Given the description of an element on the screen output the (x, y) to click on. 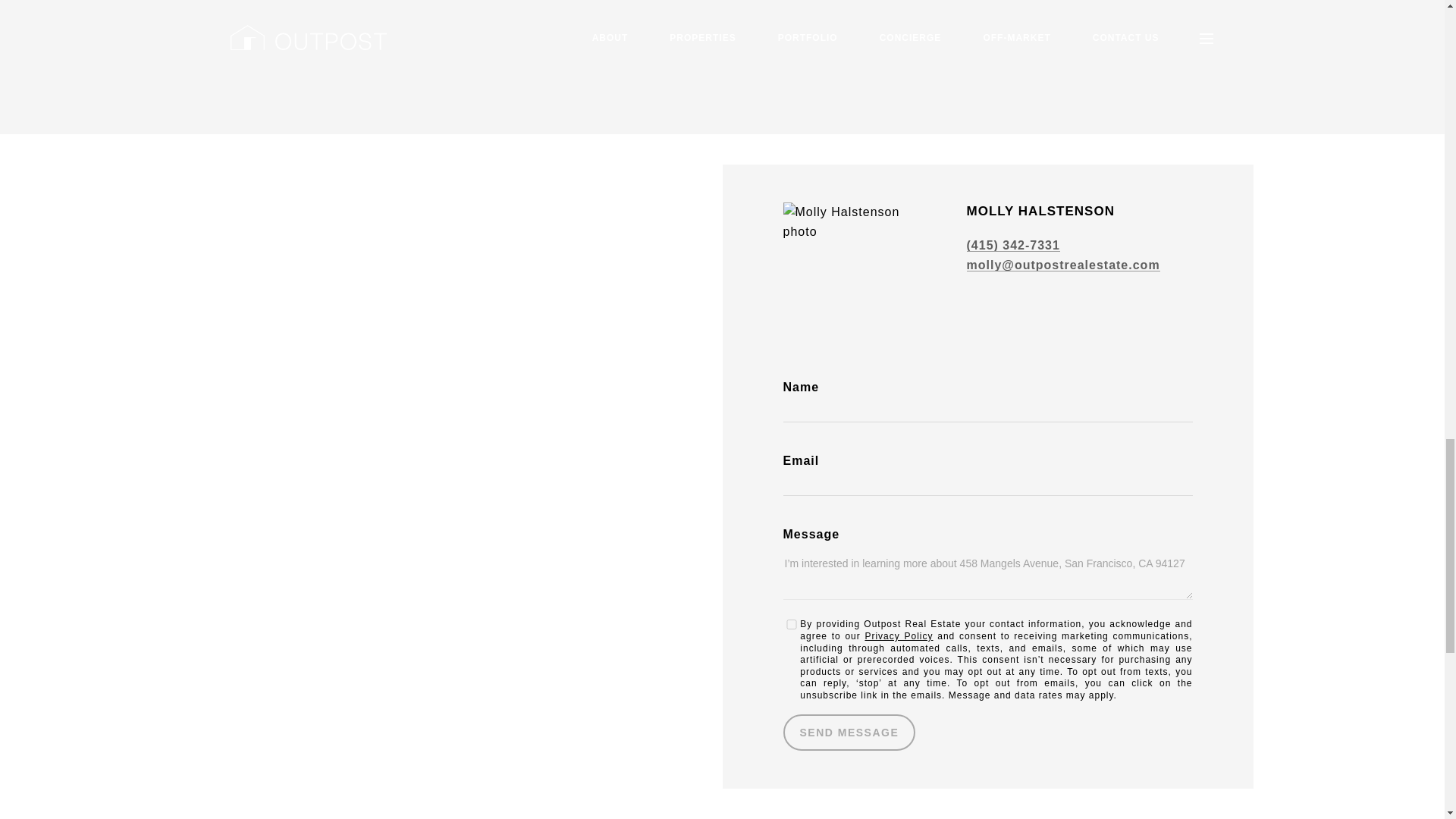
on (791, 624)
SEND MESSAGE (849, 732)
Privacy Policy (898, 635)
